Given the description of an element on the screen output the (x, y) to click on. 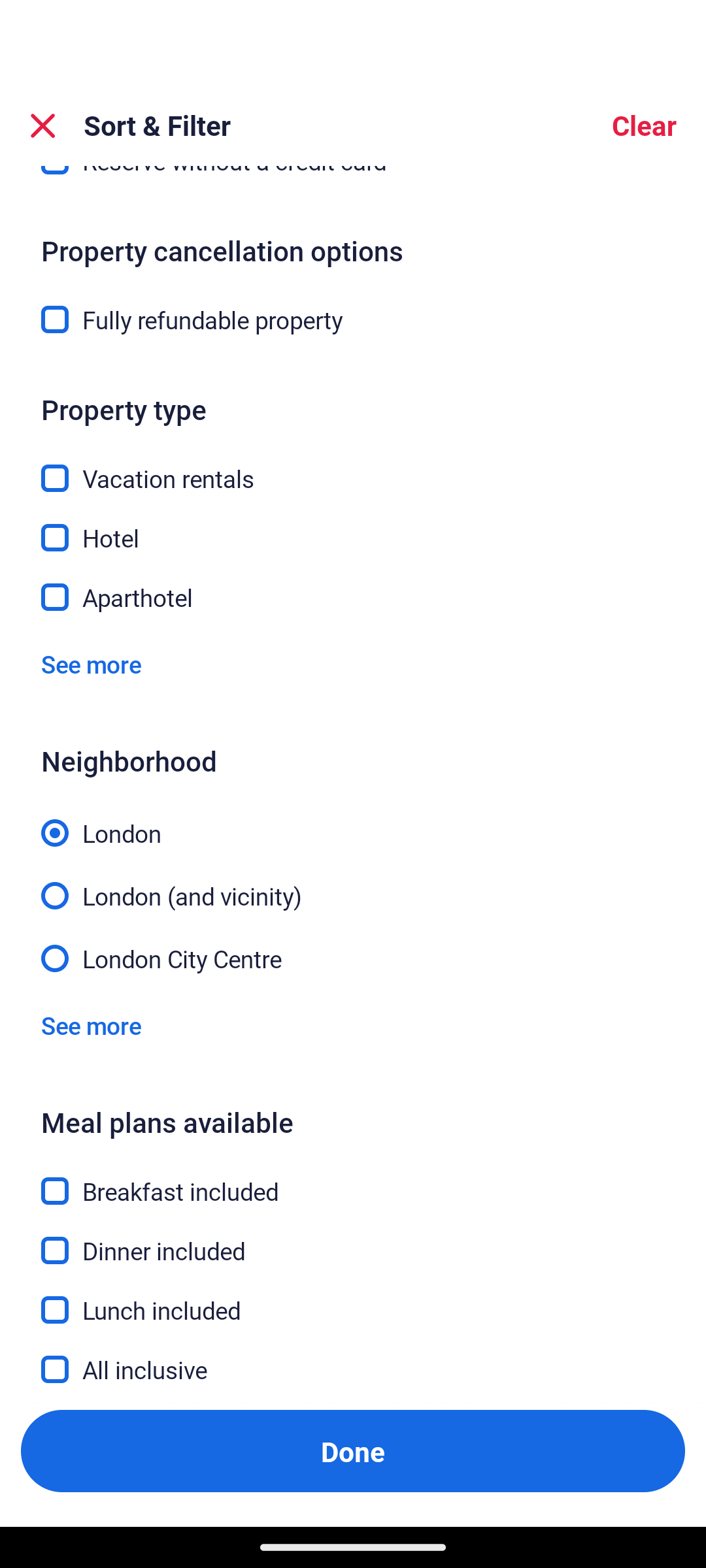
Clear (643, 125)
Close Sort and Filter (43, 125)
Vacation rentals, Vacation rentals (352, 467)
Hotel, Hotel (352, 526)
Aparthotel, Aparthotel (352, 597)
See more See more property types Link (90, 664)
London (and vicinity) (352, 883)
London City Centre (352, 956)
See more See more neighborhoods Link (90, 1025)
Breakfast included, Breakfast included (352, 1180)
Dinner included, Dinner included (352, 1240)
Lunch included, Lunch included (352, 1299)
All inclusive, All inclusive (352, 1369)
Apply and close Sort and Filter Done (352, 1450)
